Given the description of an element on the screen output the (x, y) to click on. 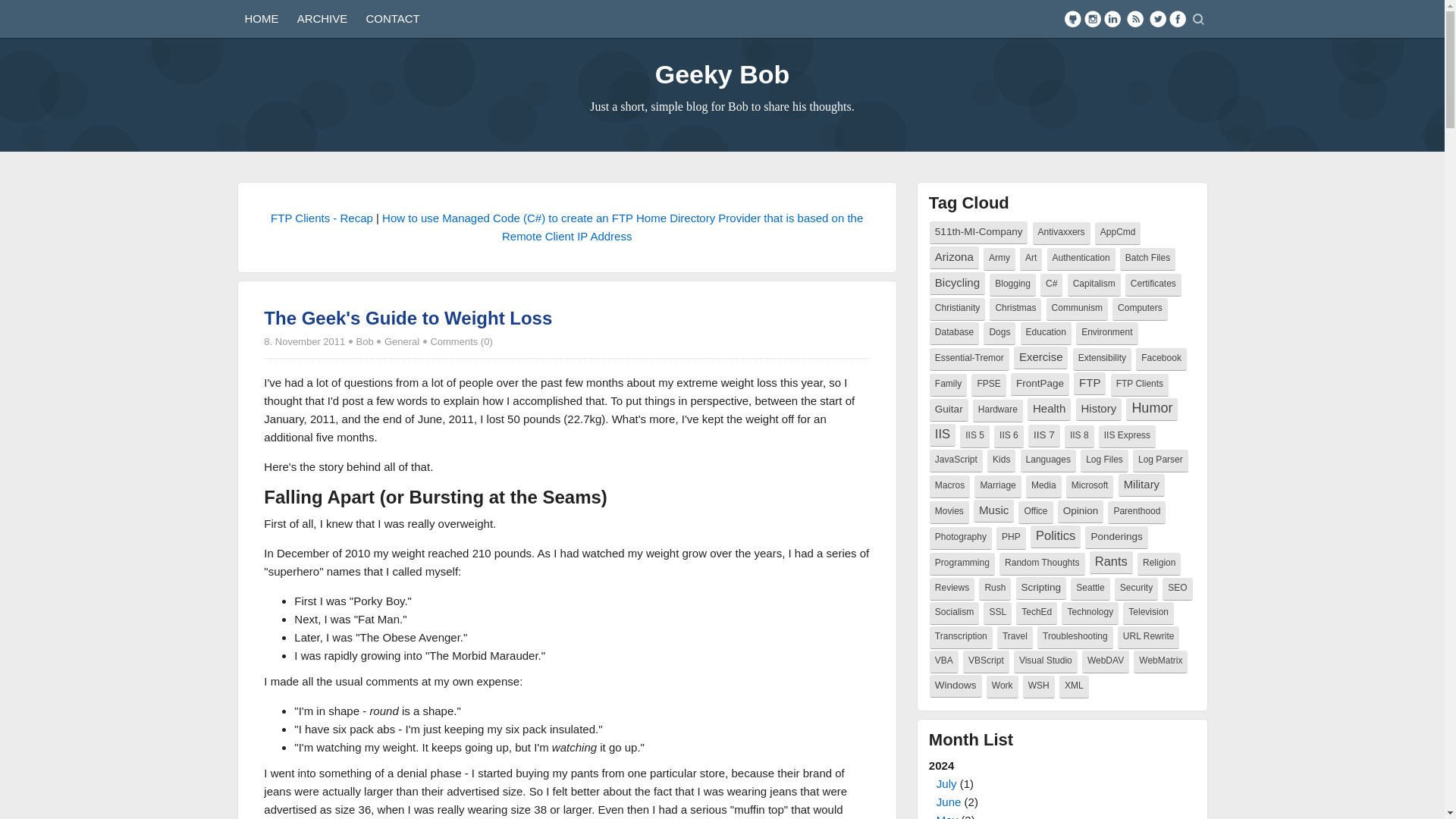
The Geek's Guide to Weight Loss (407, 317)
ARCHIVE (322, 18)
General (401, 341)
FTP Clients - Recap (321, 217)
Twitter (1158, 18)
Facebook (1177, 18)
Geeky Bob (722, 73)
CONTACT (392, 18)
Subscribe (1134, 18)
Search... (1199, 19)
HOME (260, 18)
Bob (365, 341)
